Given the description of an element on the screen output the (x, y) to click on. 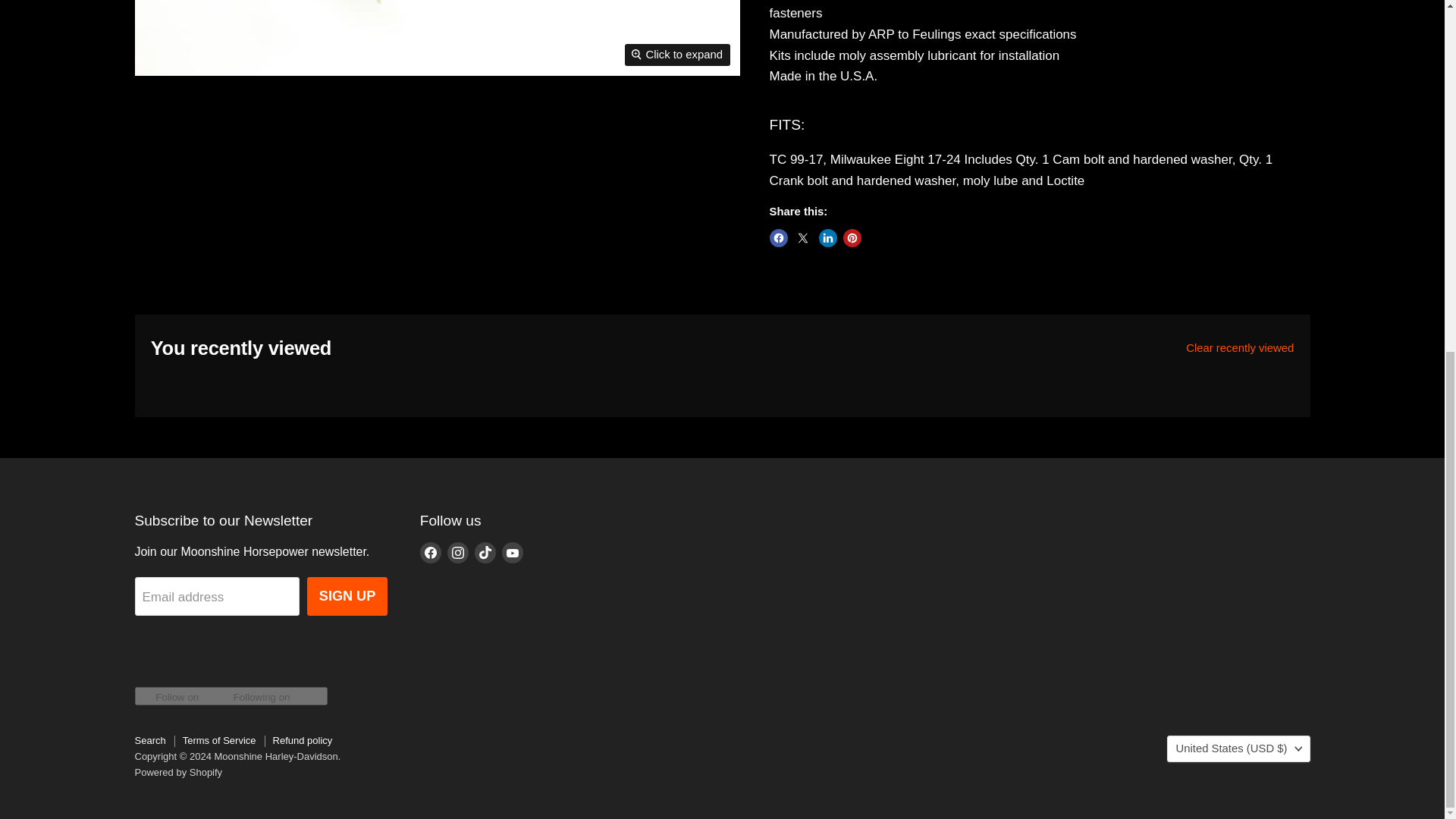
Facebook (430, 552)
TikTok (485, 552)
YouTube (512, 552)
Instagram (457, 552)
